Given the description of an element on the screen output the (x, y) to click on. 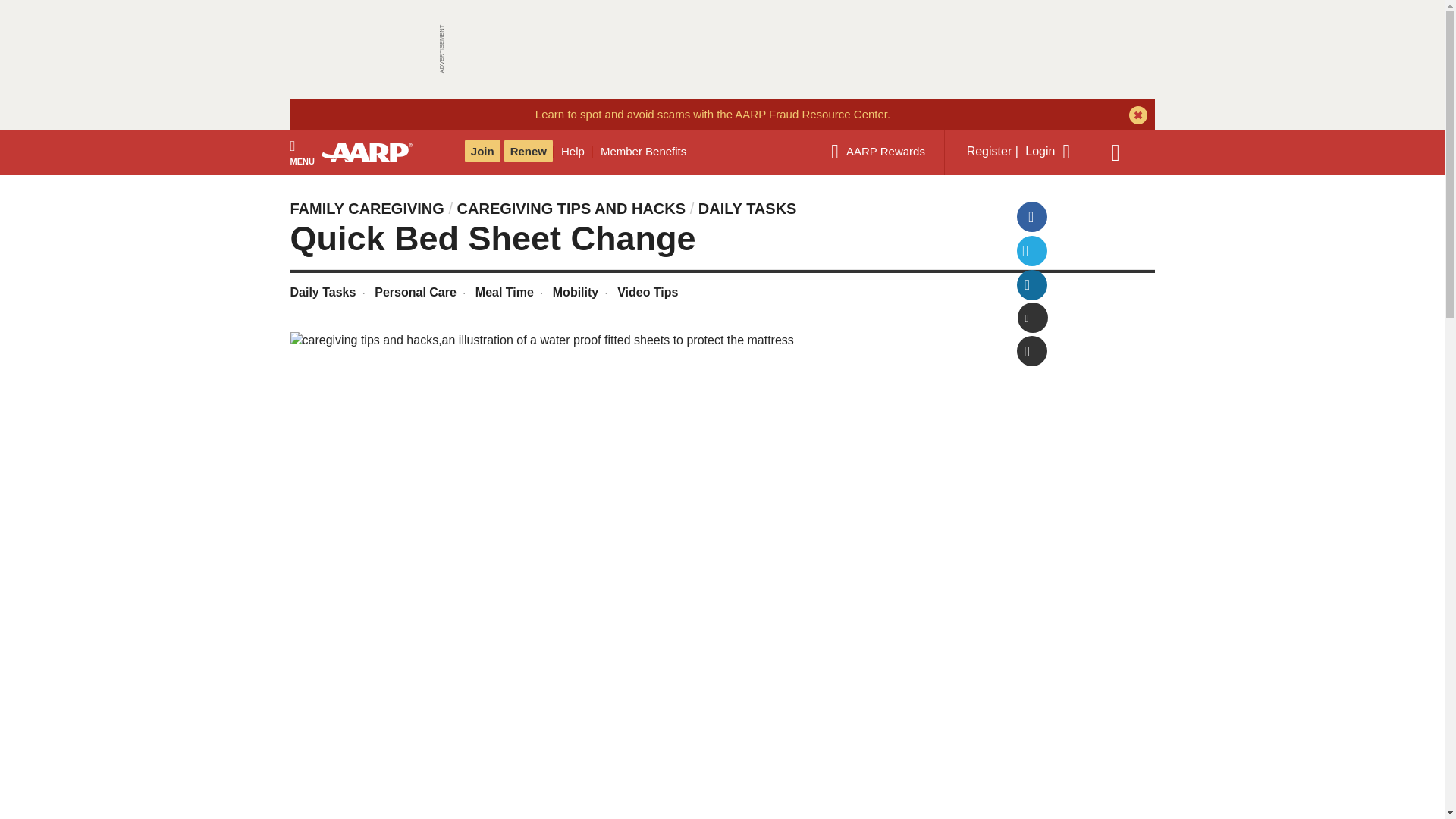
Homepage (373, 151)
fraud resource center (712, 113)
Search (1123, 152)
3rd party ad content (721, 49)
